Given the description of an element on the screen output the (x, y) to click on. 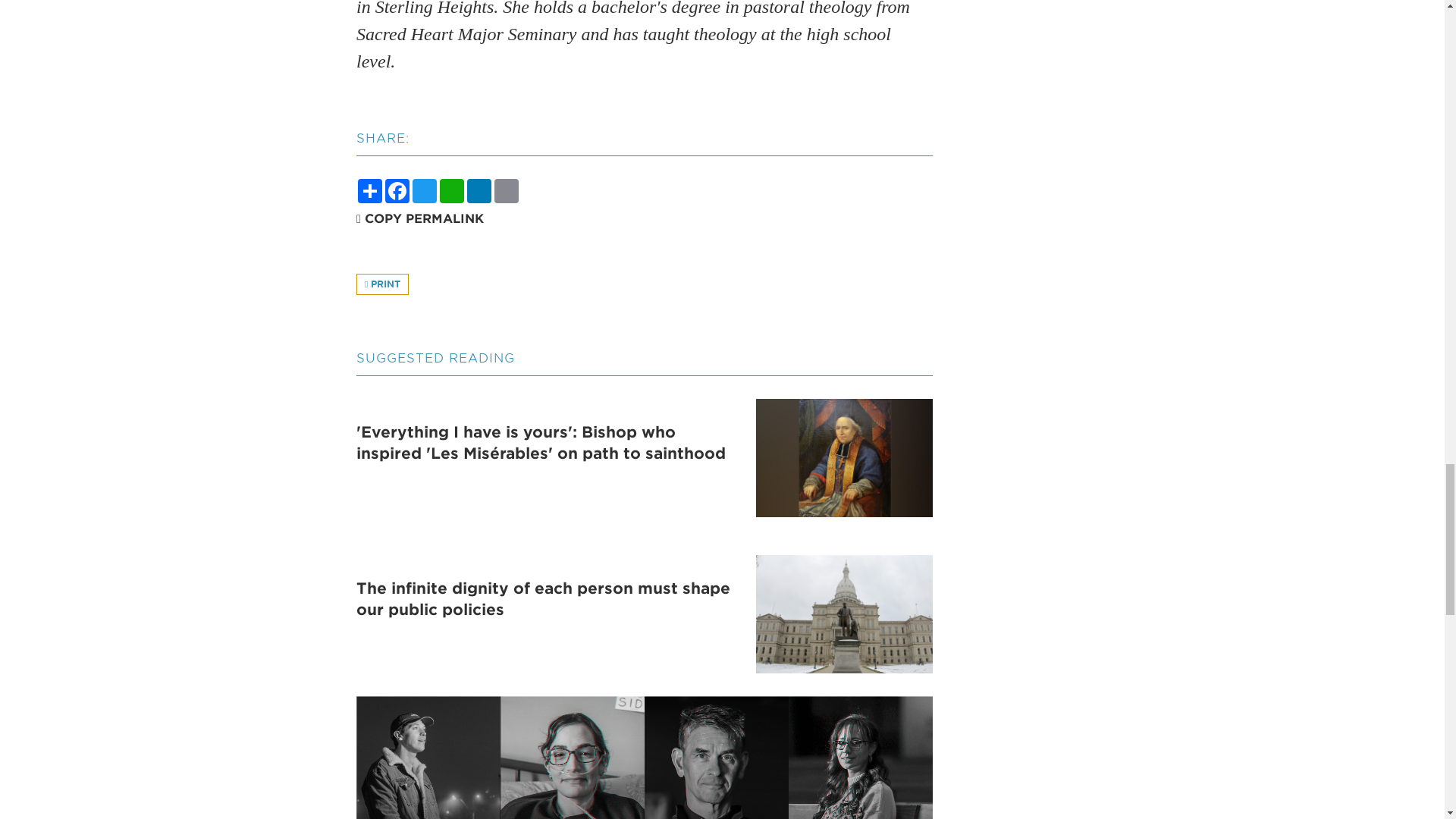
AOD-IAM: July Article Bottom (644, 757)
